Given the description of an element on the screen output the (x, y) to click on. 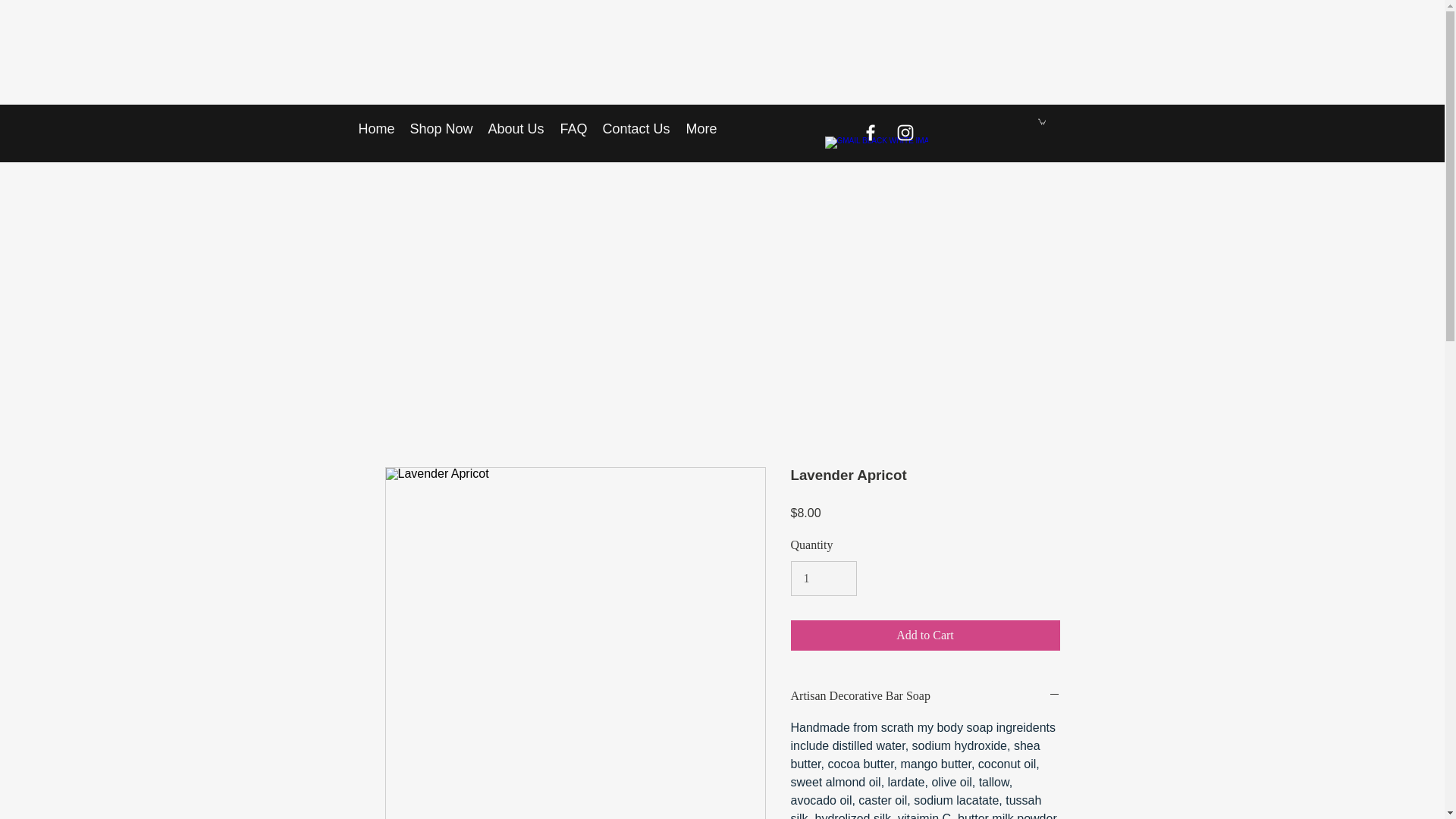
Artisan Decorative Bar Soap (924, 696)
Contact Us (636, 128)
1 (823, 578)
Home (375, 128)
About Us (516, 128)
FAQ (572, 128)
Shop Now (440, 128)
Add to Cart (924, 634)
